Given the description of an element on the screen output the (x, y) to click on. 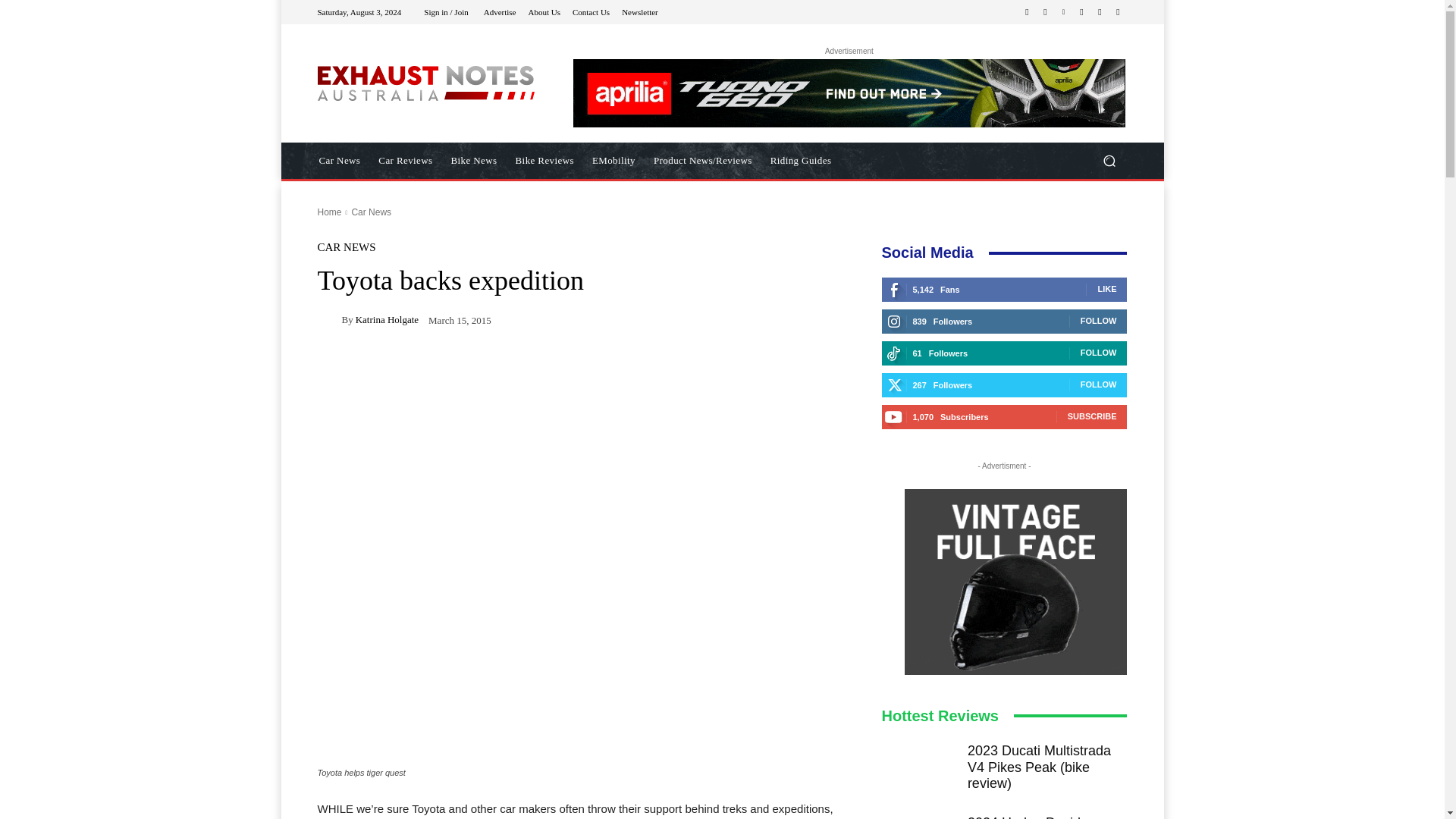
About Us (543, 11)
Youtube (1117, 12)
Bike News (474, 160)
Instagram (1044, 12)
Twitter (1099, 12)
Car News (370, 212)
Car News (338, 160)
Advertise (499, 11)
Bike Reviews (544, 160)
Riding Guides (801, 160)
Car Reviews (405, 160)
Contact Us (591, 11)
Linkedin (1062, 12)
EMobility (614, 160)
TikTok (1080, 12)
